Given the description of an element on the screen output the (x, y) to click on. 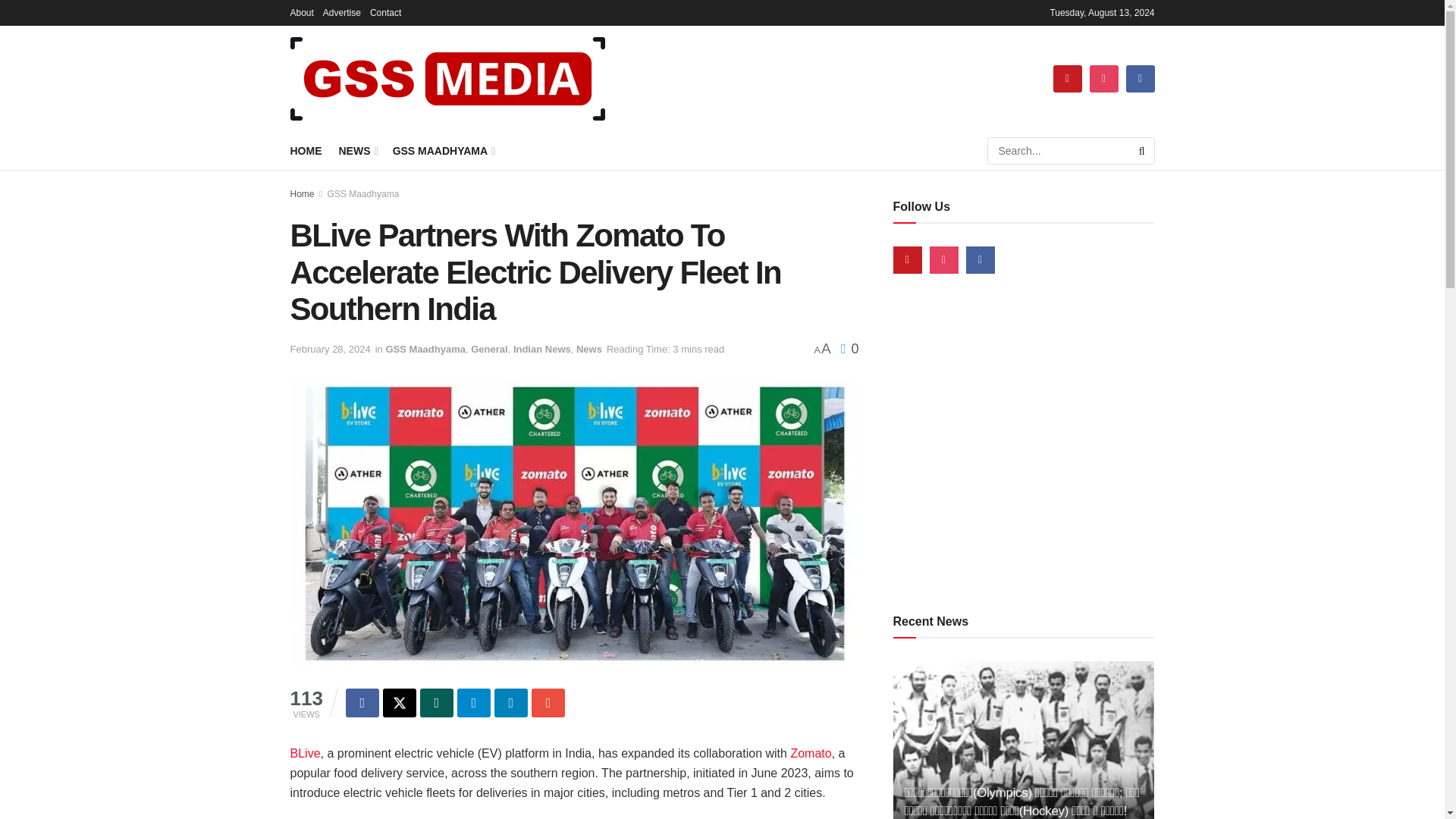
NEWS (356, 150)
General (488, 348)
HOME (305, 150)
GSS Maadhyama (425, 348)
GSS MAADHYAMA (443, 150)
About (301, 12)
Contact (385, 12)
Advertisement (1023, 442)
GSS Maadhyama (362, 194)
February 28, 2024 (329, 348)
